Given the description of an element on the screen output the (x, y) to click on. 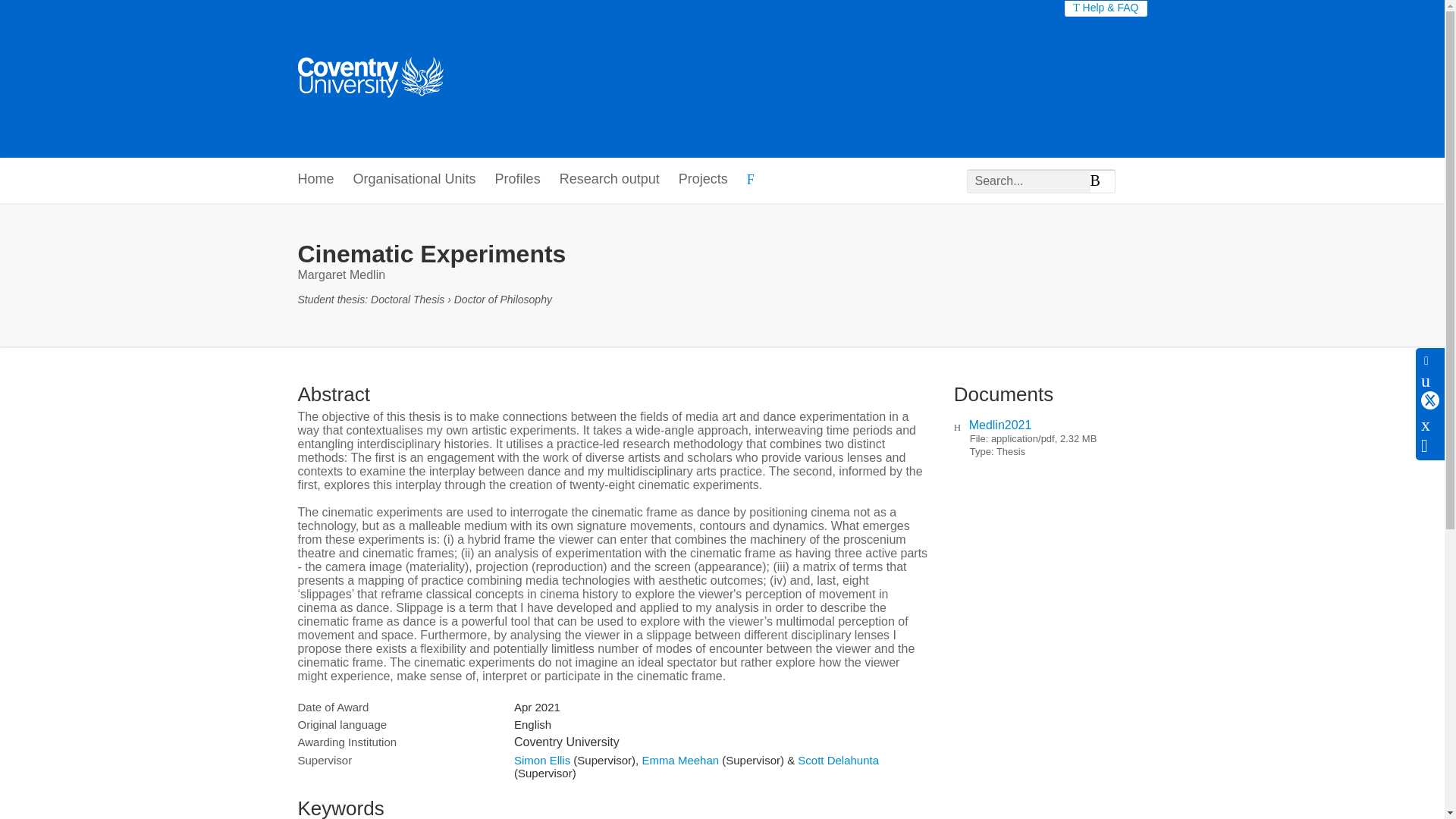
Medlin2021 (1000, 424)
Simon Ellis (541, 759)
Organisational Units (414, 180)
Coventry University Home (369, 78)
Profiles (517, 180)
Emma Meehan (680, 759)
Projects (703, 180)
Research output (609, 180)
Scott Delahunta (838, 759)
